Given the description of an element on the screen output the (x, y) to click on. 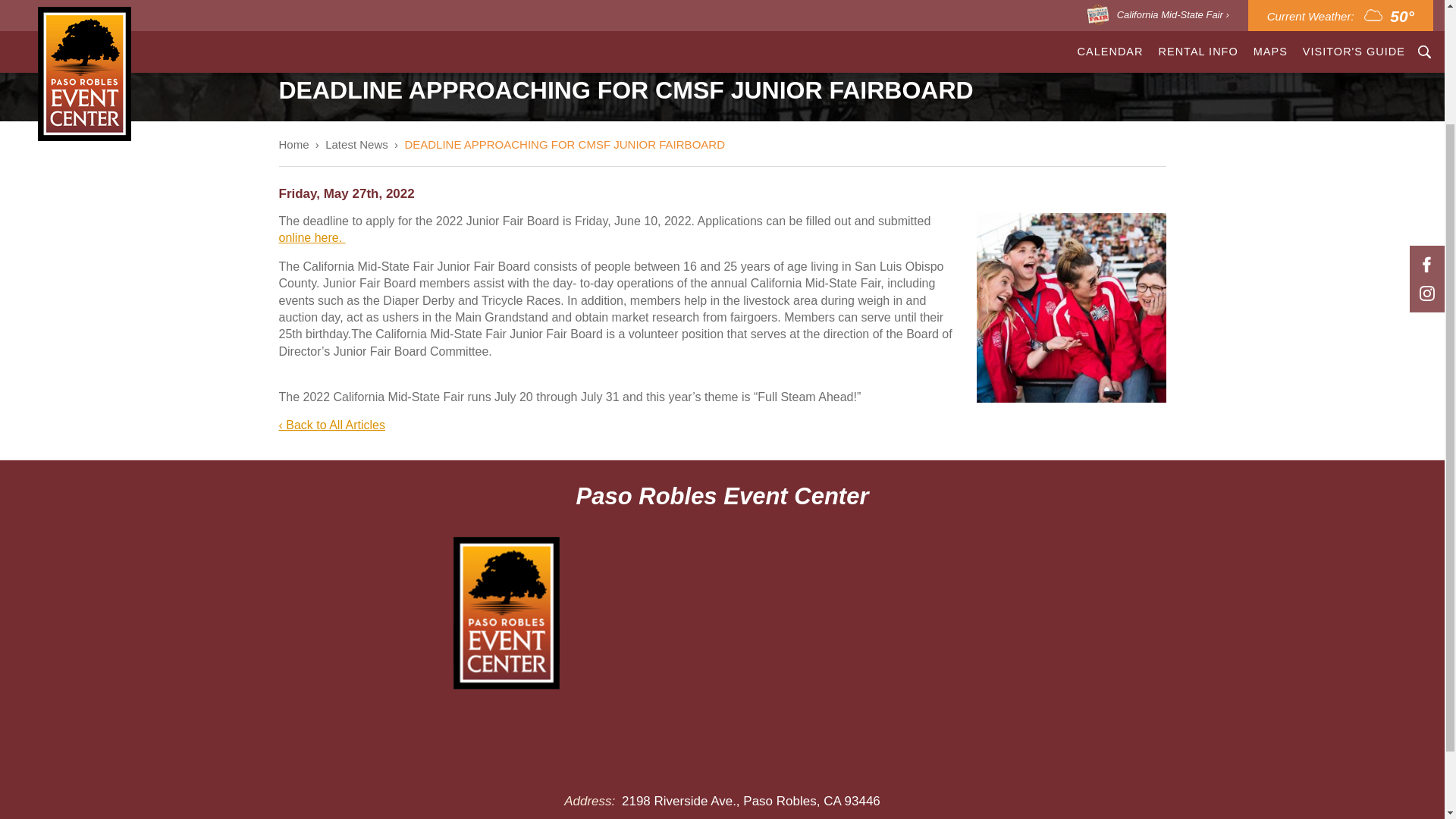
Facebook (1426, 115)
Facebook (1426, 115)
Instagram (1426, 144)
Instagram (1426, 144)
